Given the description of an element on the screen output the (x, y) to click on. 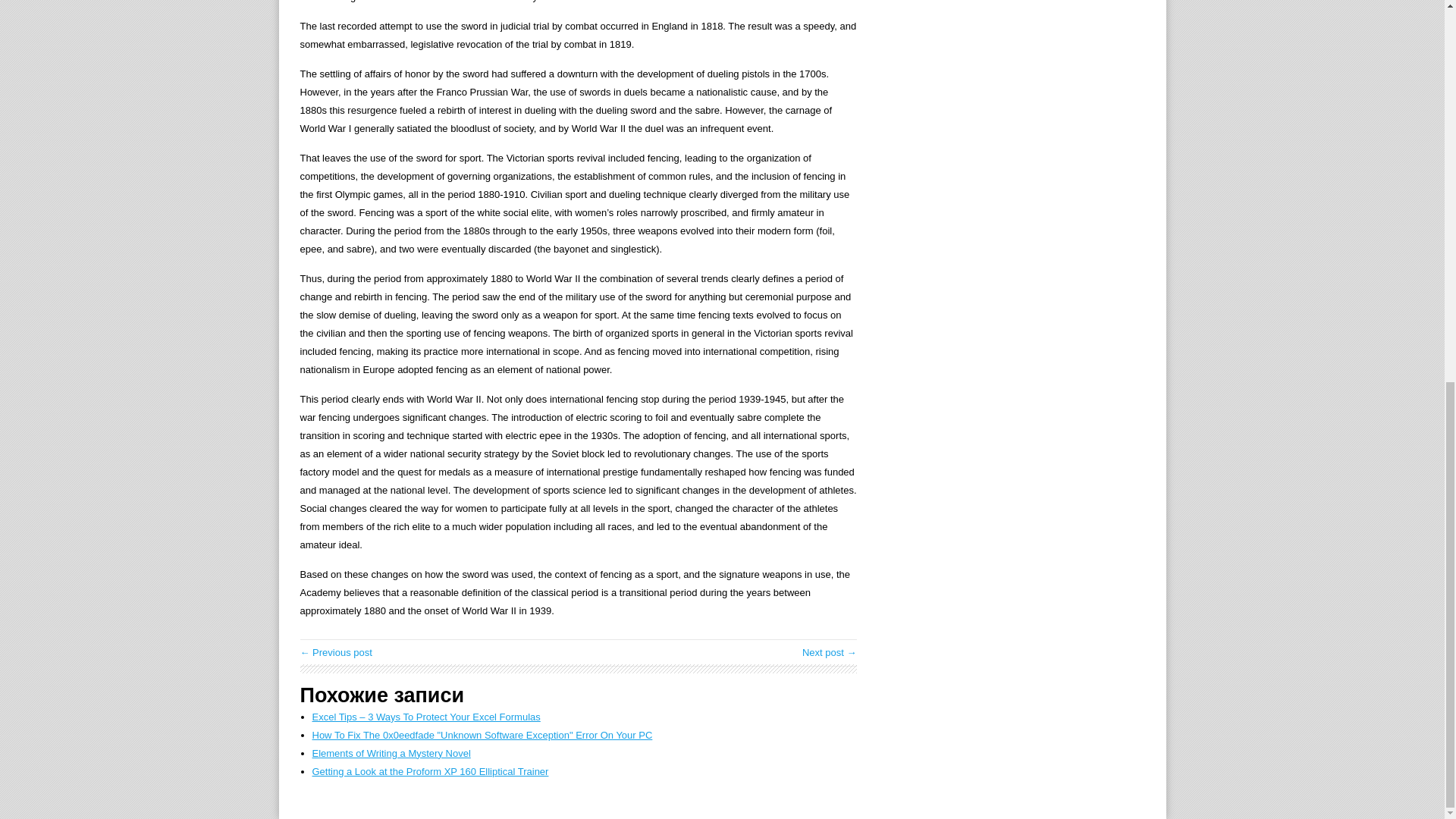
Antibiotics, Best Natural Sources (829, 652)
Elements of Writing a Mystery Novel (391, 753)
Getting a Look at the Proform XP 160 Elliptical Trainer (430, 771)
